Given the description of an element on the screen output the (x, y) to click on. 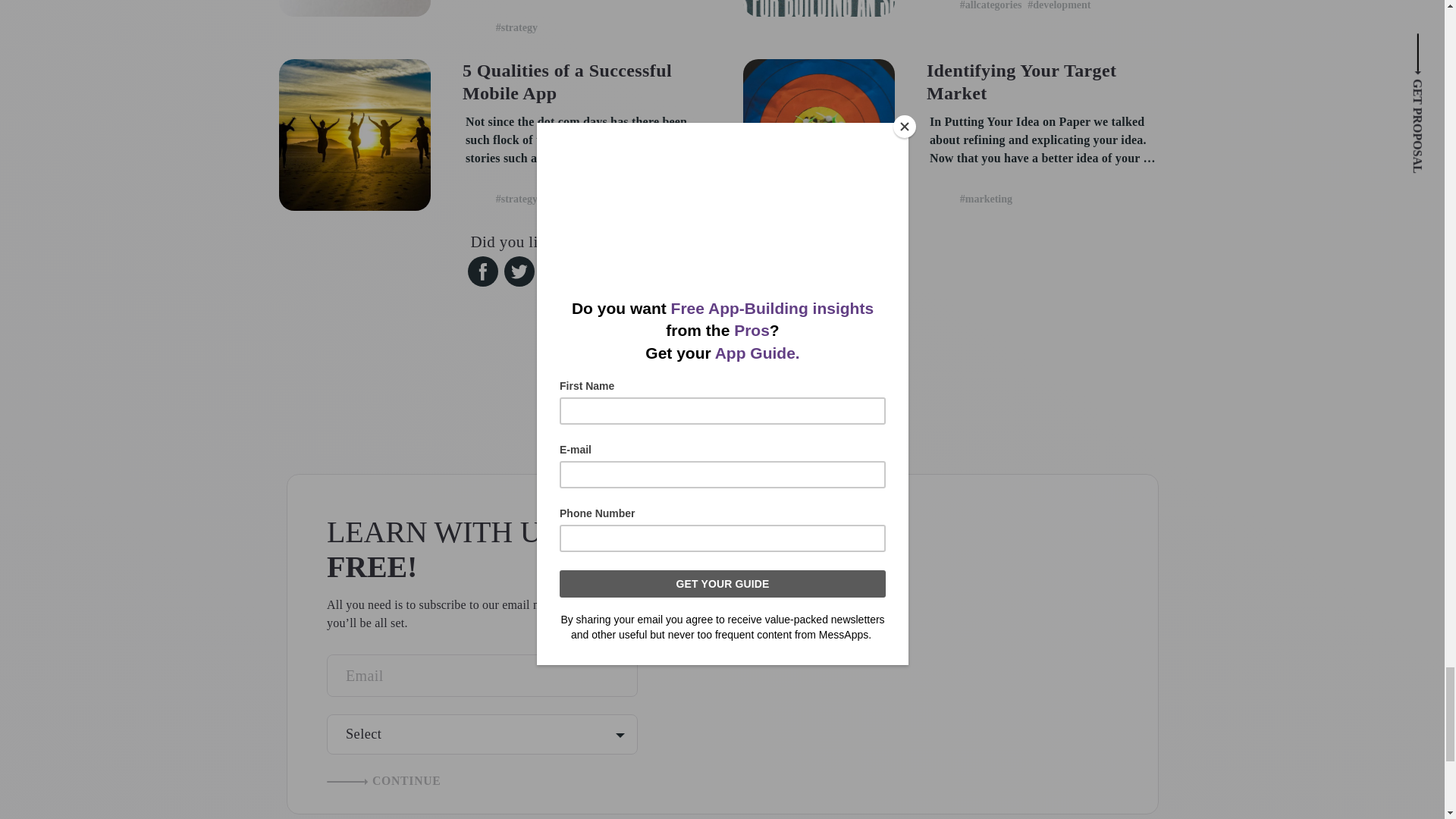
Select (481, 734)
Share link on Twitter (518, 271)
Share link on Instagram (721, 325)
Share link on Instagram (721, 299)
Share link on Facebook (482, 271)
